Given the description of an element on the screen output the (x, y) to click on. 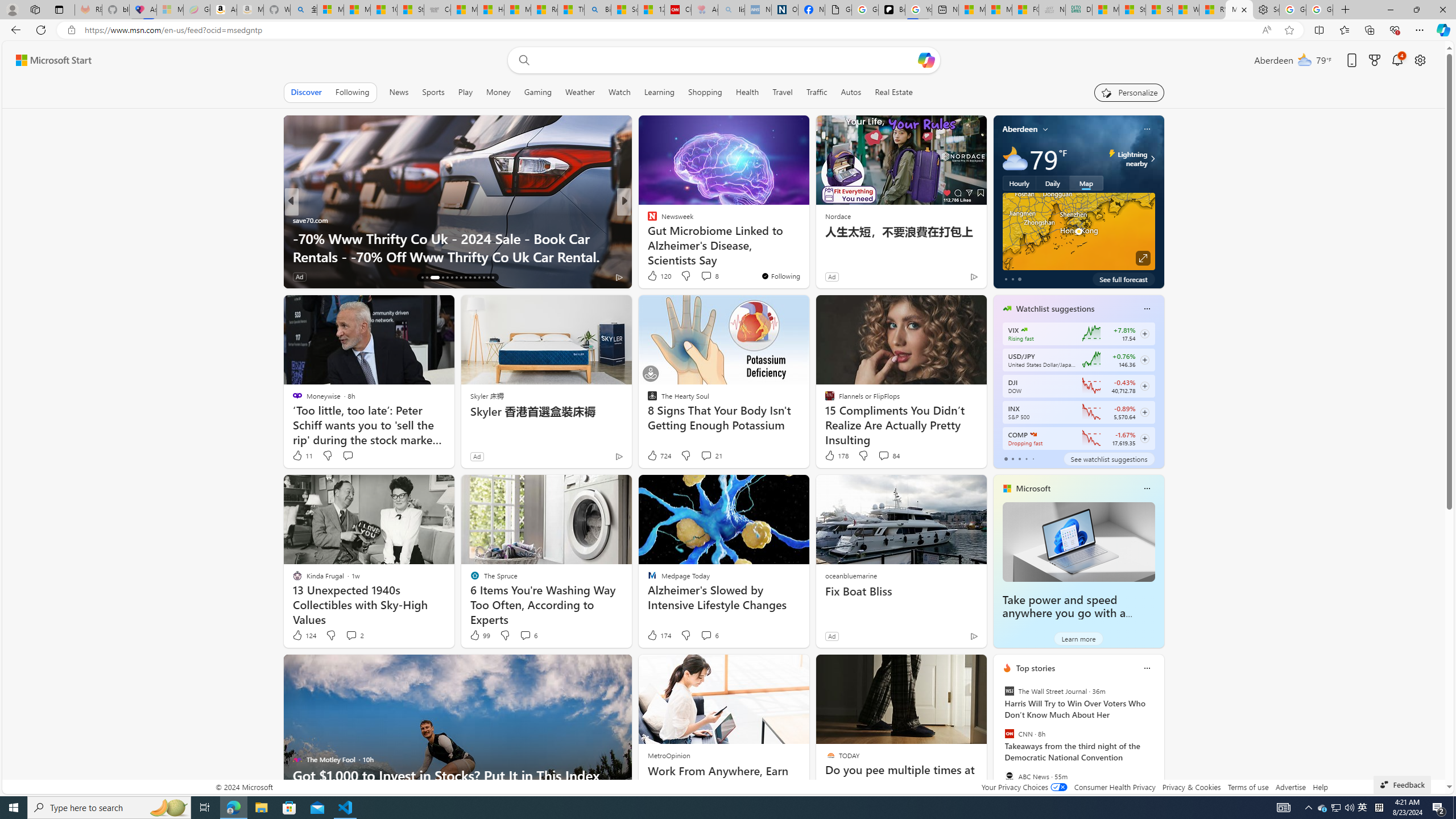
See watchlist suggestions (1108, 459)
View comments 84 Comment (888, 455)
Personalize your feed" (1129, 92)
AutomationID: tab-23 (460, 277)
AutomationID: tab-28 (483, 277)
View comments 84 Comment (883, 455)
AutomationID: tab-21 (451, 277)
My location (1045, 128)
View comments 74 Comment (707, 276)
15 Healthy Lunch Ideas To Power Through A Long Workday (807, 247)
